Given the description of an element on the screen output the (x, y) to click on. 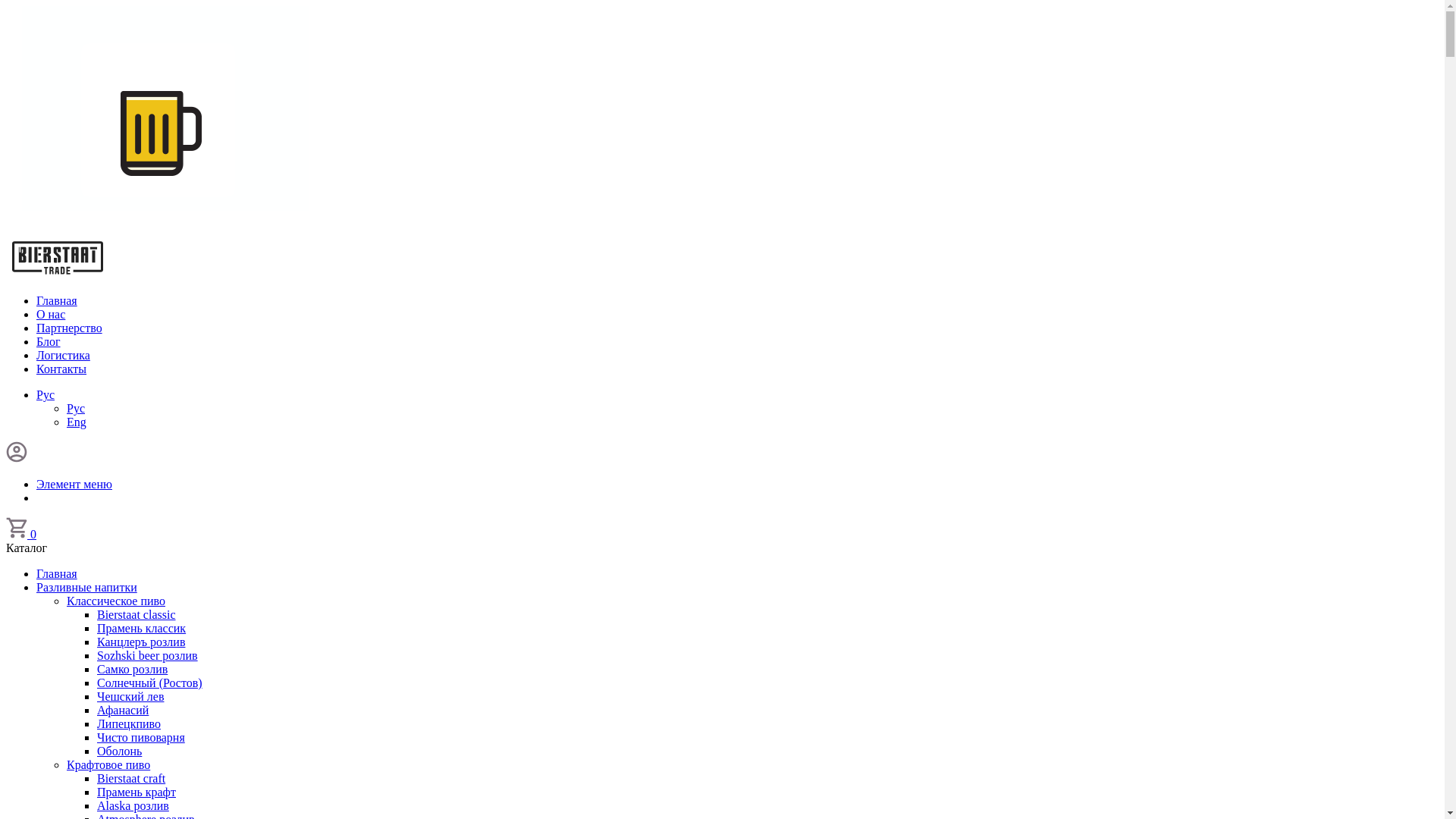
Eng Element type: text (76, 421)
0 Element type: text (21, 533)
Bierstaat craft Element type: text (131, 777)
Bierstaat classic Element type: text (136, 614)
